Given the description of an element on the screen output the (x, y) to click on. 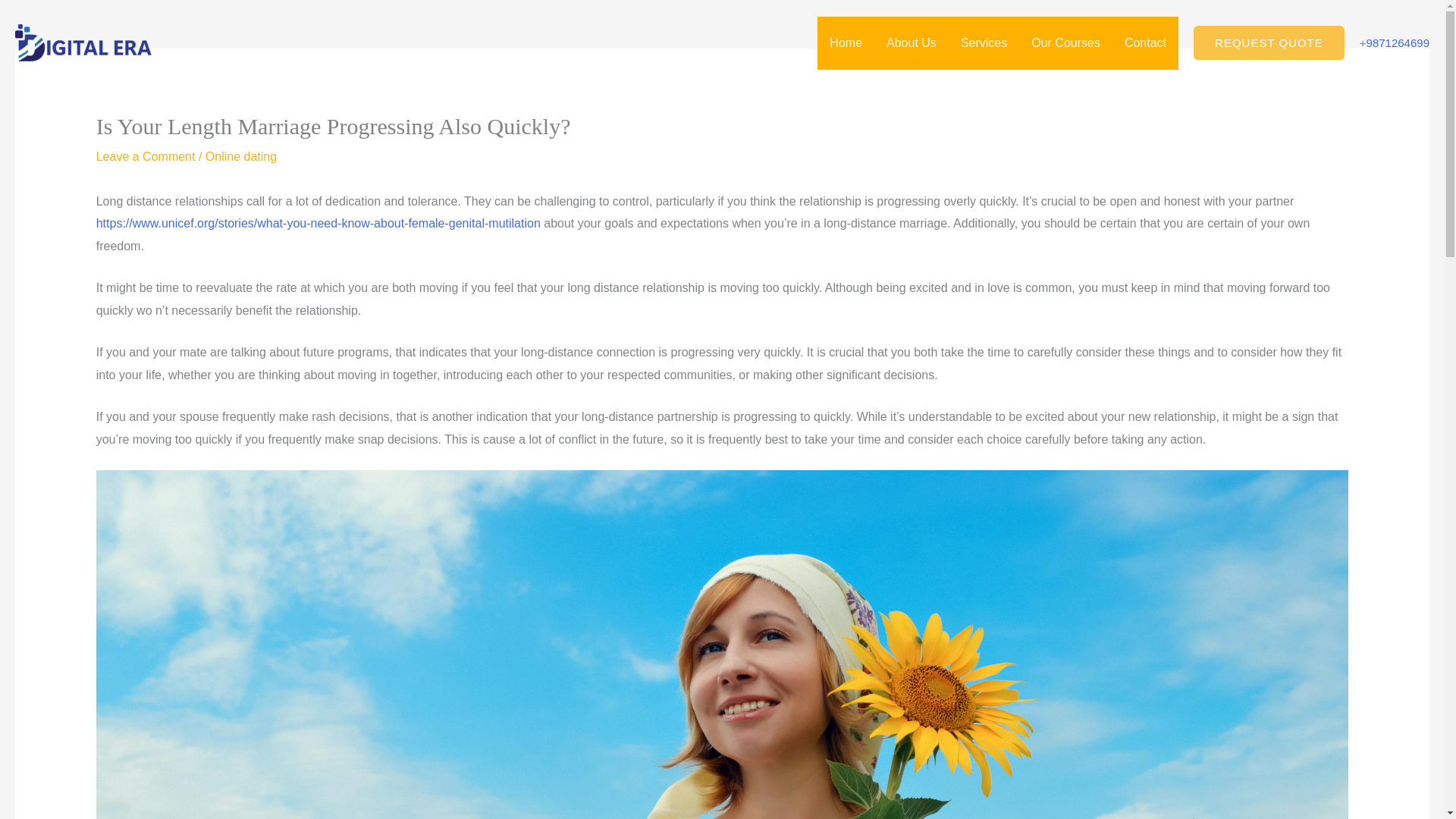
About Us (912, 42)
Contact (1144, 42)
Home (845, 42)
Online dating (240, 155)
Our Courses (1065, 42)
REQUEST QUOTE (1268, 42)
9871264699 (1398, 42)
Services (984, 42)
Leave a Comment (145, 155)
